Given the description of an element on the screen output the (x, y) to click on. 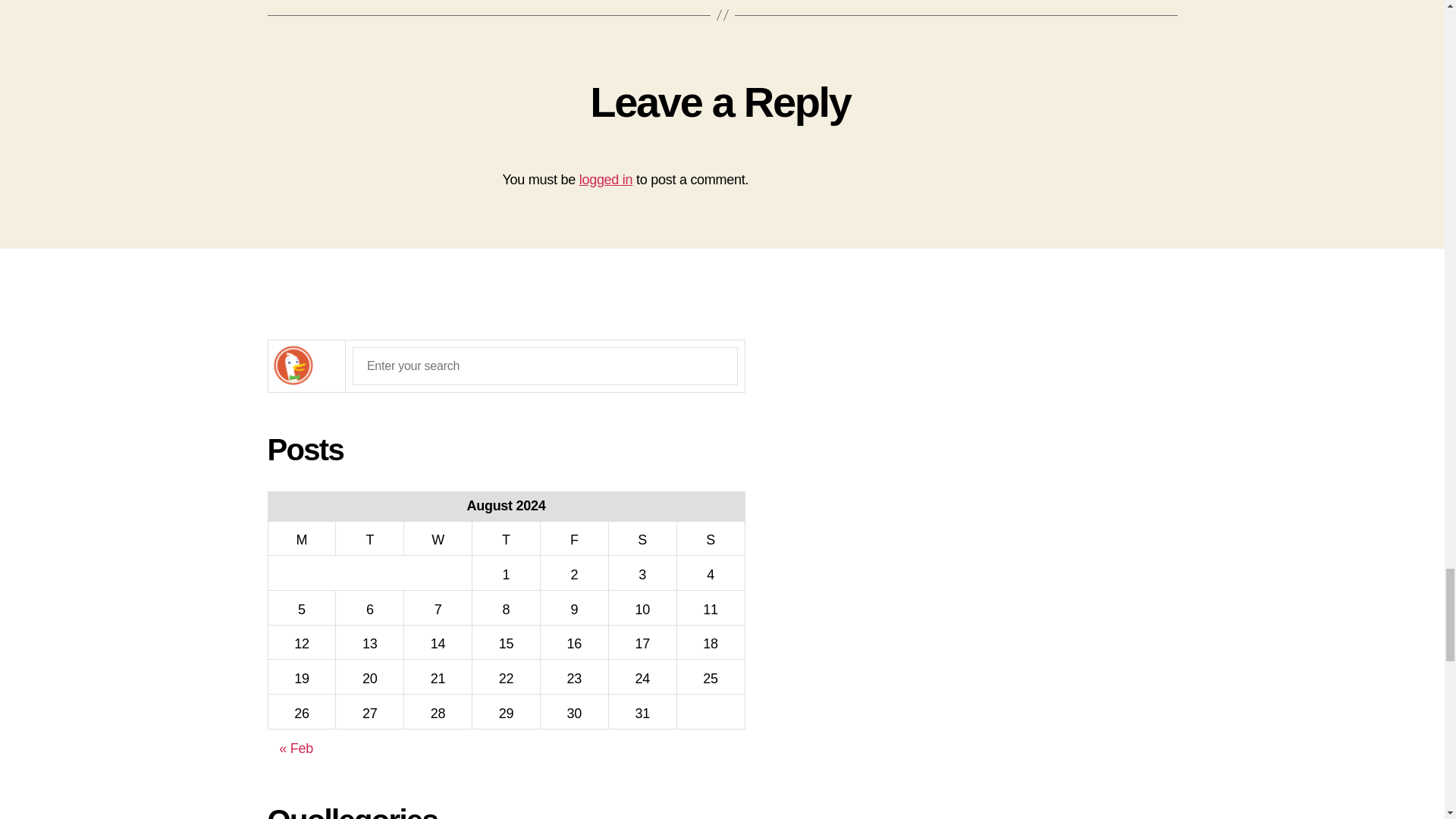
Sunday (710, 538)
Saturday (642, 538)
Monday (301, 538)
Thursday (505, 538)
Tuesday (370, 538)
Wednesday (437, 538)
Friday (574, 538)
logged in (606, 179)
